Given the description of an element on the screen output the (x, y) to click on. 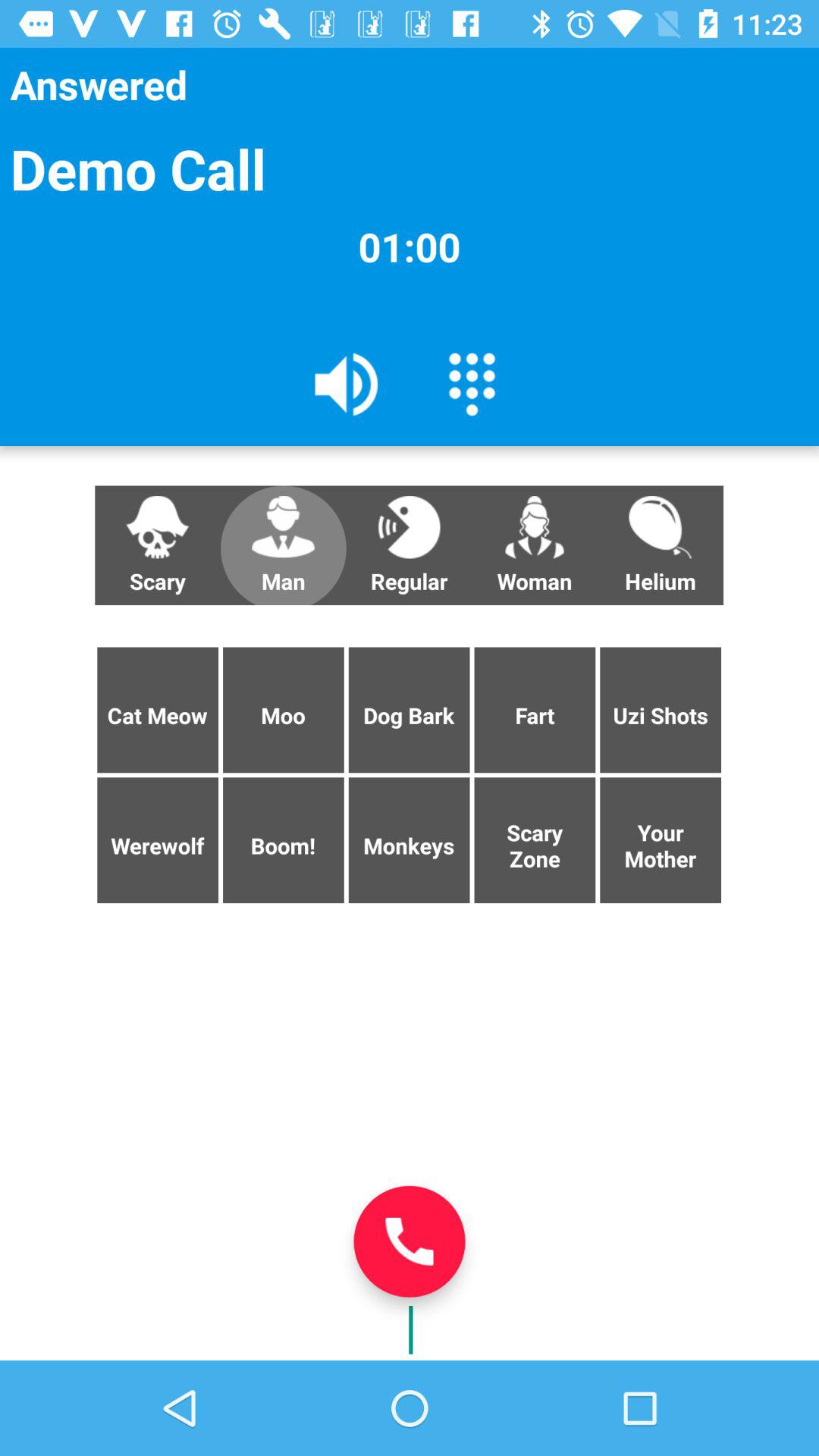
open the item to the left of the regular (283, 545)
